Given the description of an element on the screen output the (x, y) to click on. 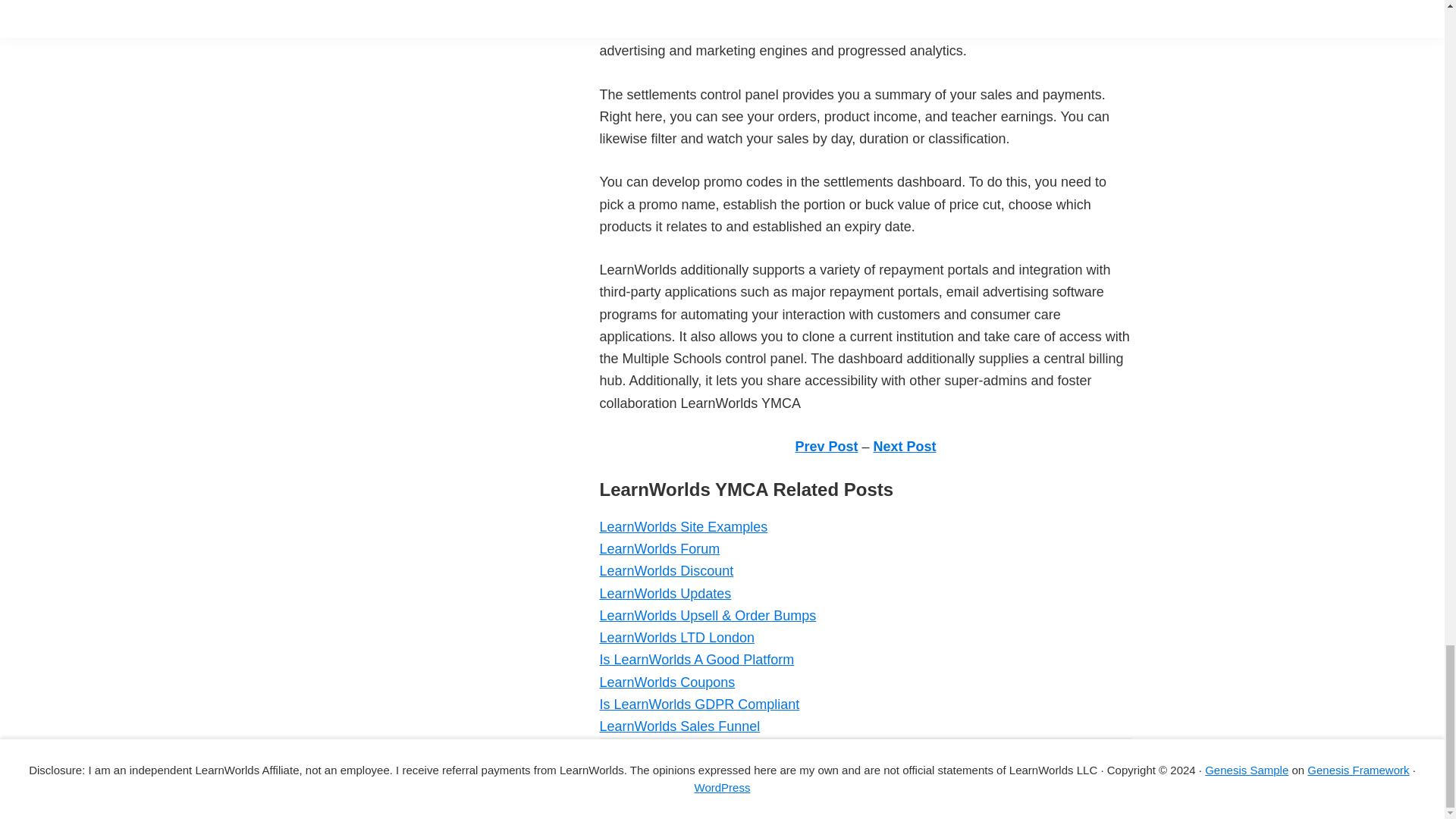
LearnWorlds Coupons (666, 682)
LearnWorlds Site Examples (682, 526)
LearnWorlds Updates (664, 593)
Next Post (904, 446)
Is LearnWorlds GDPR Compliant (698, 703)
LearnWorlds Sales Funnel (679, 726)
LearnWorlds Updates (664, 593)
Is LearnWorlds GDPR Compliant (698, 703)
LearnWorlds Forum (658, 548)
Is LearnWorlds A Good Platform (695, 659)
